Given the description of an element on the screen output the (x, y) to click on. 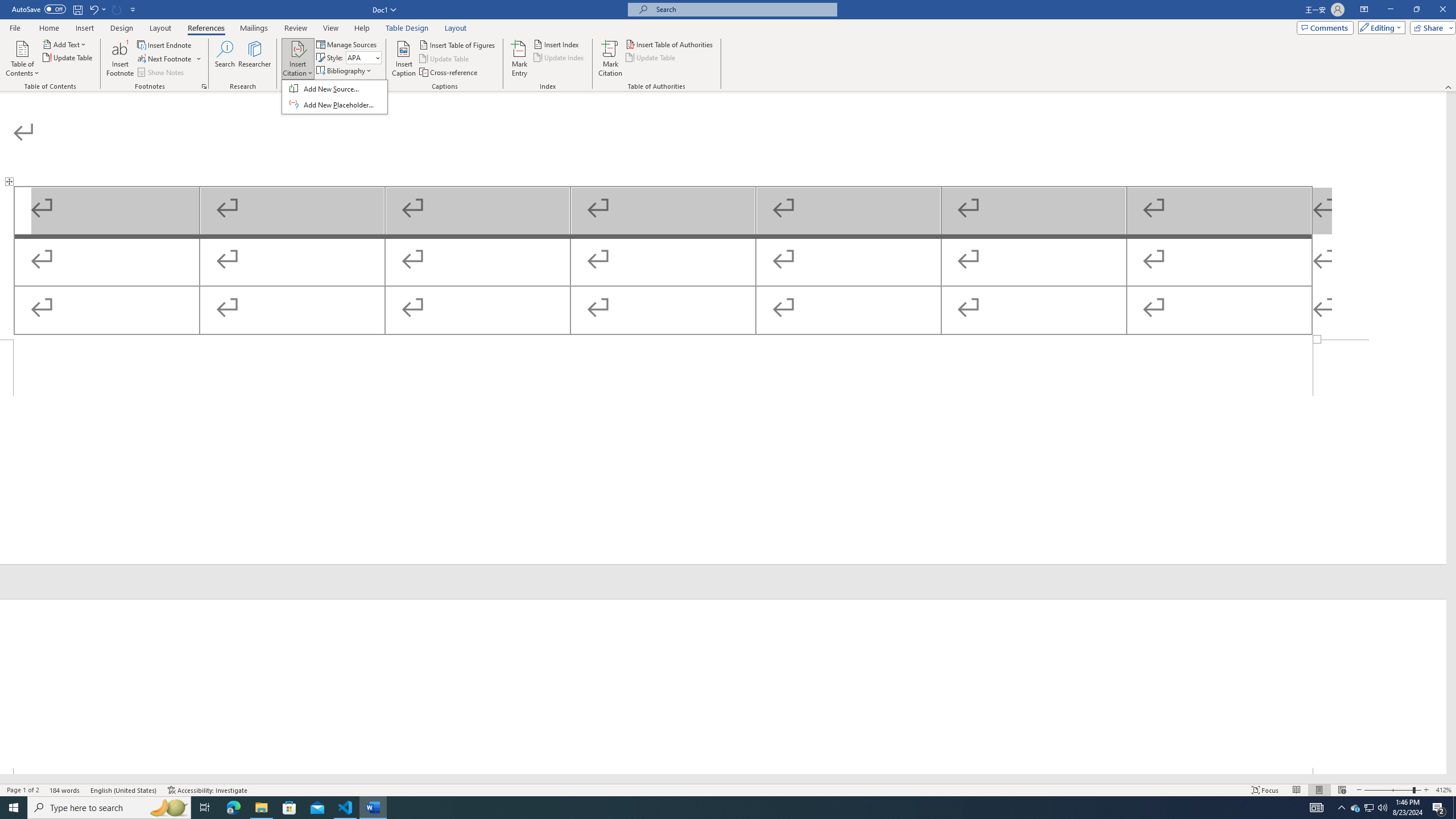
Style (360, 57)
Cross-reference... (448, 72)
Visual Studio Code - 1 running window (345, 807)
Insert Index... (556, 44)
Undo Outline Move Up (92, 9)
Footer -Section 1- (722, 452)
Word - 1 running window (373, 807)
